Given the description of an element on the screen output the (x, y) to click on. 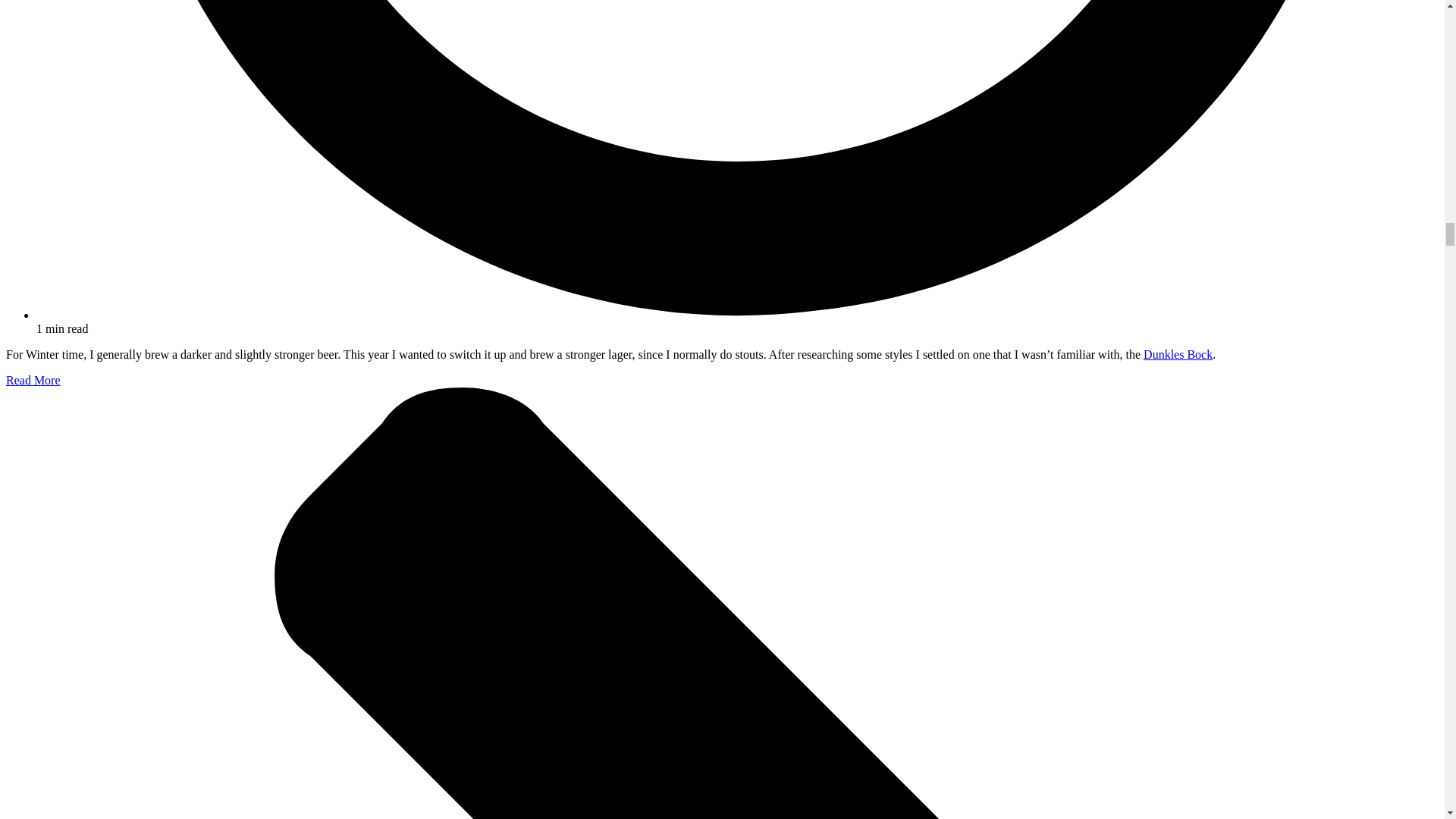
Dunkles Bock (1177, 354)
